Given the description of an element on the screen output the (x, y) to click on. 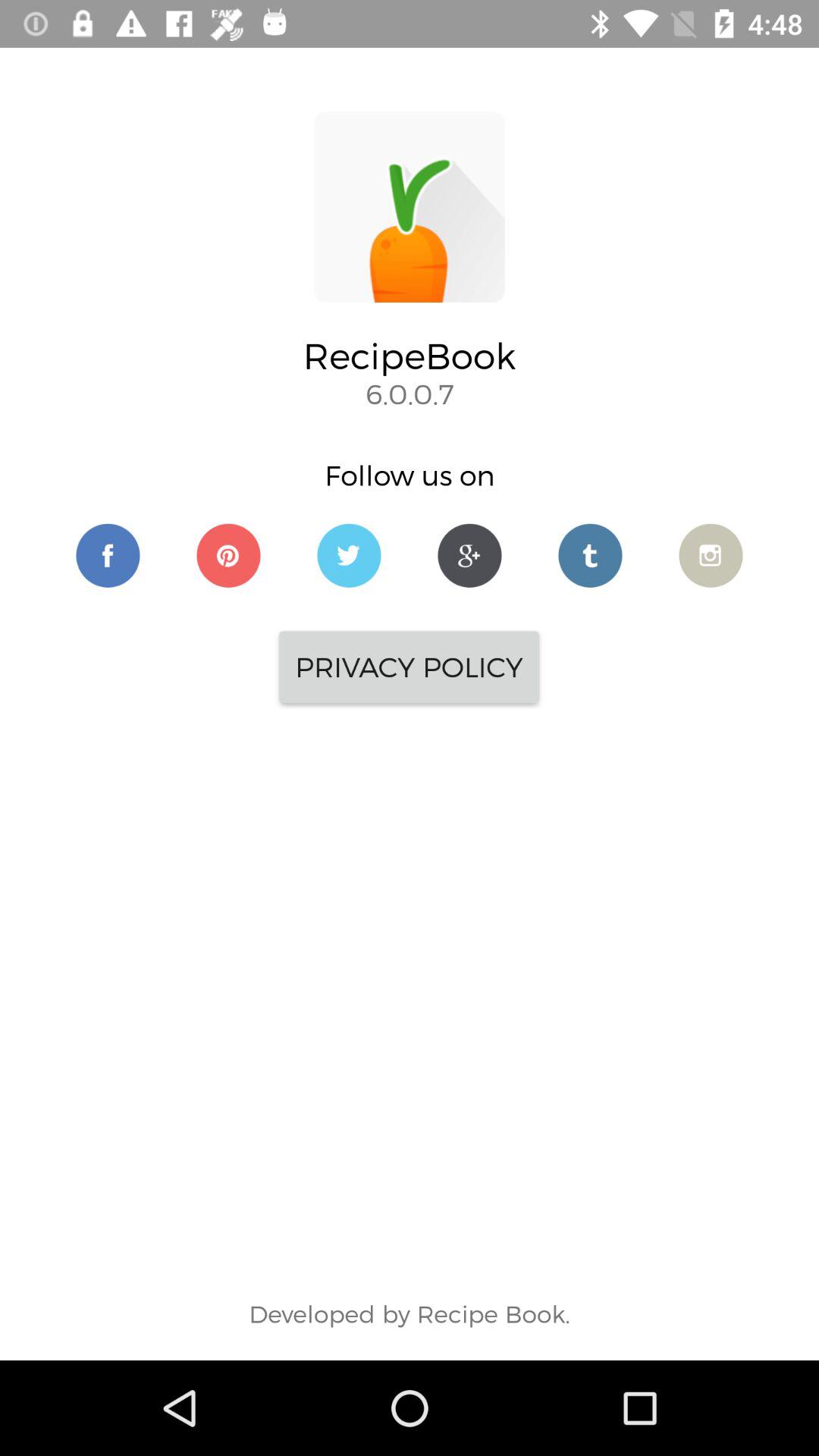
follow their pinterest page (228, 555)
